Given the description of an element on the screen output the (x, y) to click on. 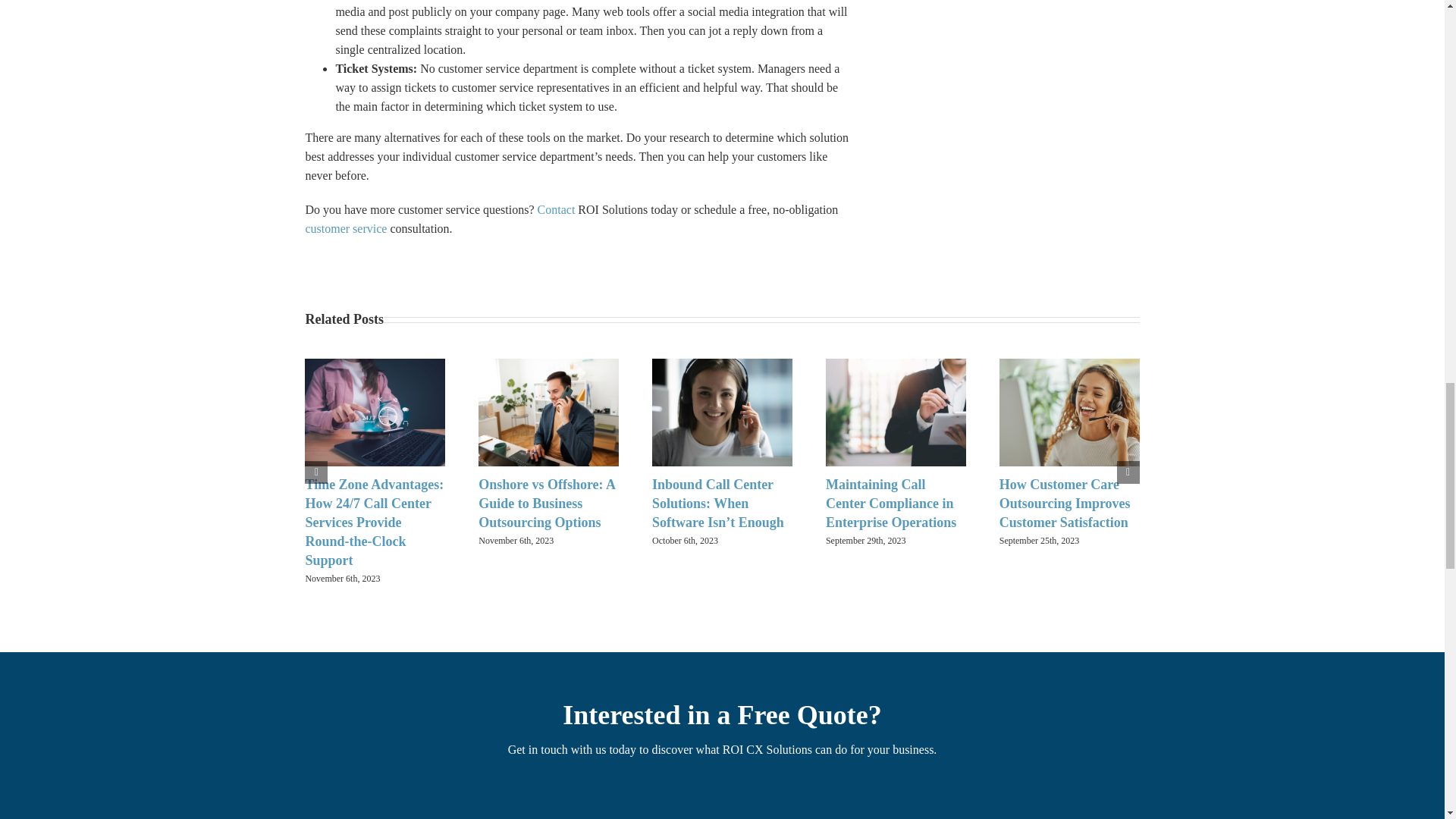
Maintaining Call Center Compliance in Enterprise Operations (890, 502)
How Customer Care Outsourcing Improves Customer Satisfaction (1064, 502)
Form 1 (721, 802)
Onshore vs Offshore: A Guide to Business Outsourcing Options (546, 502)
